Given the description of an element on the screen output the (x, y) to click on. 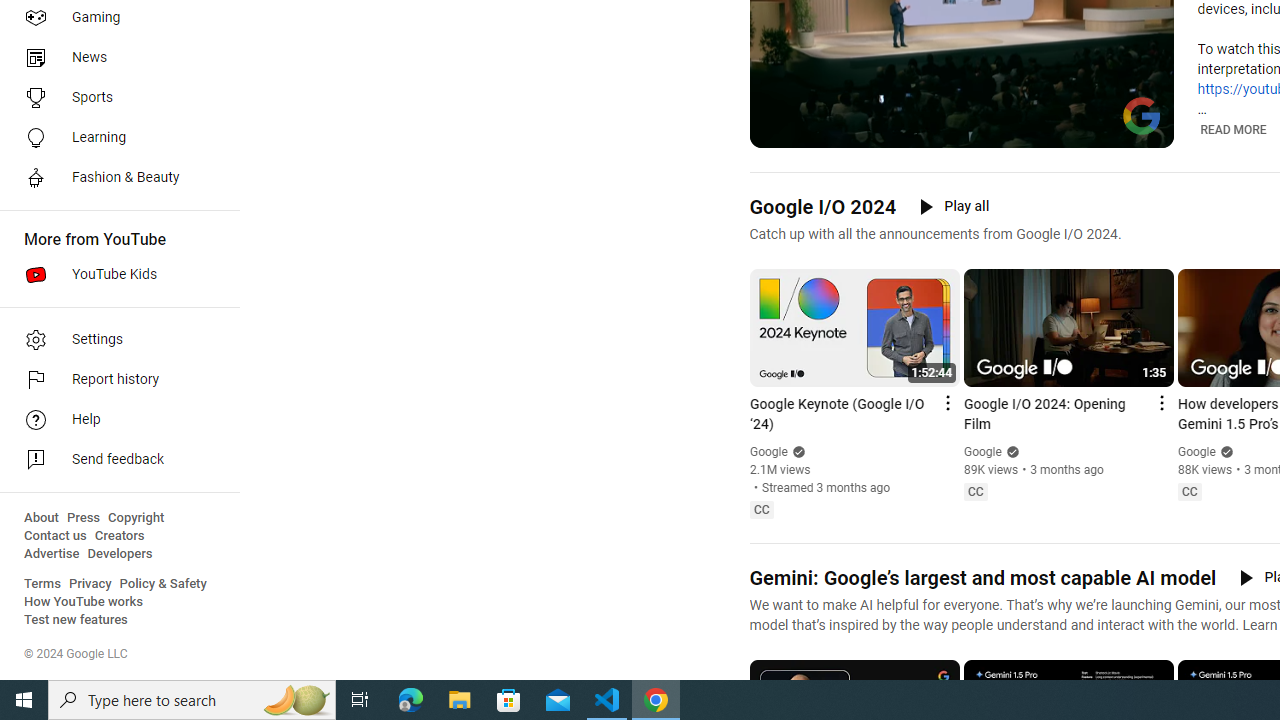
News (113, 57)
Channel watermark (1141, 115)
Google I/O 2024 (822, 206)
Test new features (76, 620)
Sports (113, 97)
Channel watermark (1141, 115)
Closed captions (1189, 492)
YouTube Kids (113, 274)
MadeByGoogle '24: Intro (985, 130)
Copyright (136, 518)
How YouTube works (83, 602)
